Given the description of an element on the screen output the (x, y) to click on. 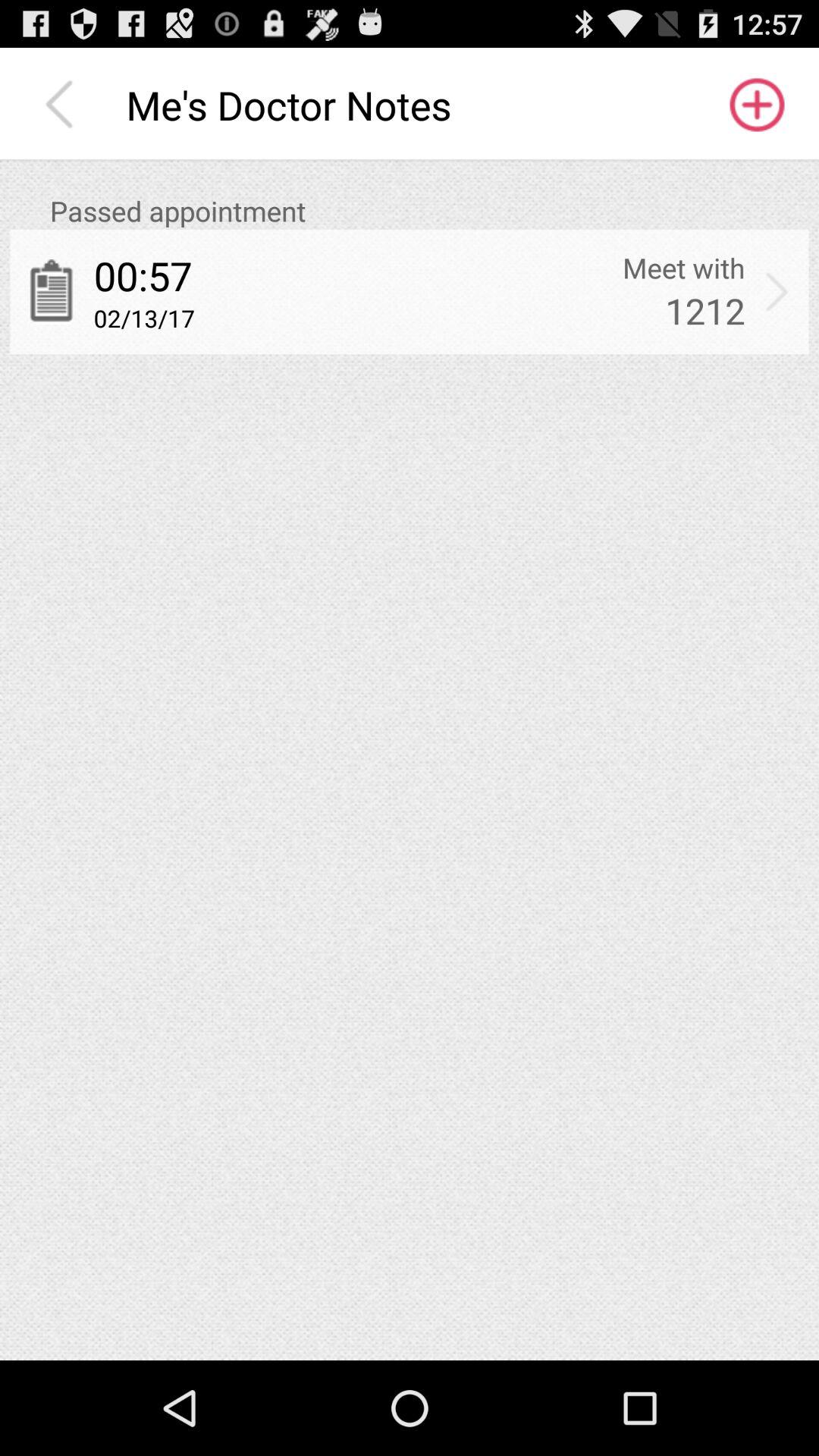
press icon to the right of 00:57 item (683, 267)
